Given the description of an element on the screen output the (x, y) to click on. 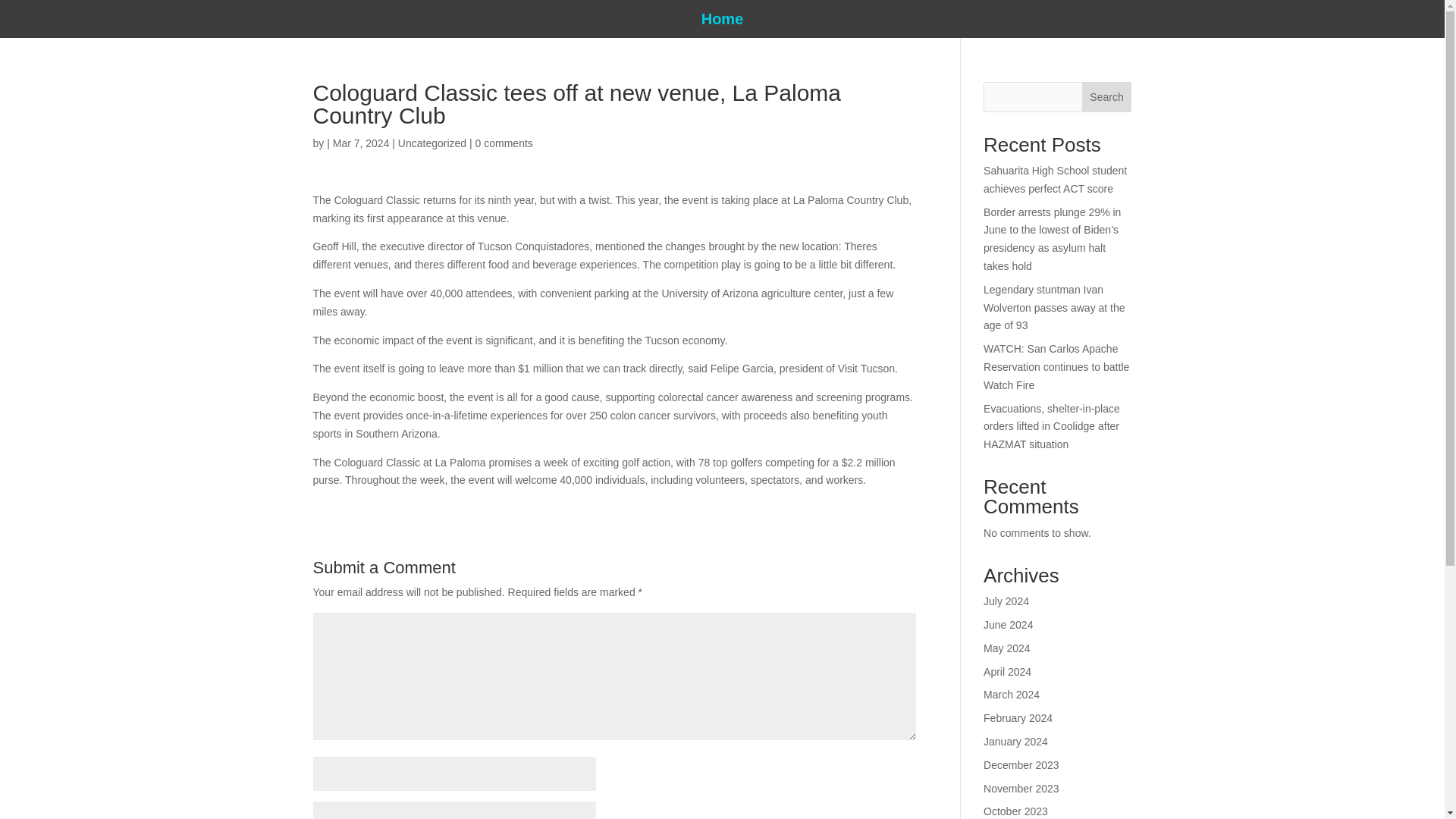
December 2023 (1021, 765)
May 2024 (1006, 648)
Home (722, 21)
Search (1106, 96)
July 2024 (1006, 601)
March 2024 (1011, 694)
June 2024 (1008, 624)
Uncategorized (431, 143)
January 2024 (1016, 741)
November 2023 (1021, 788)
Sahuarita High School student achieves perfect ACT score (1055, 179)
October 2023 (1016, 811)
